Given the description of an element on the screen output the (x, y) to click on. 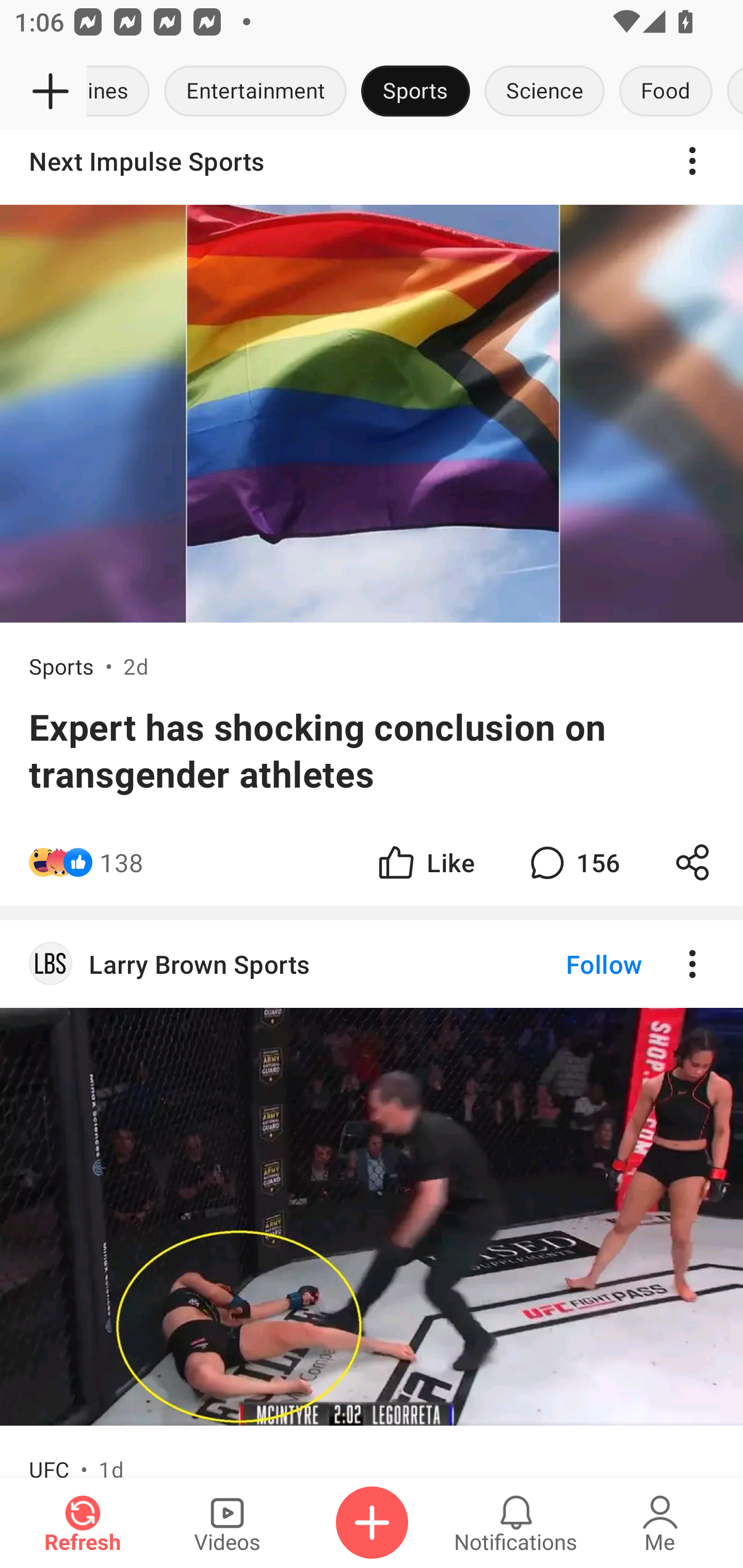
Headlines (121, 91)
Entertainment (254, 91)
Sports (415, 91)
Science (544, 91)
Food (665, 91)
Next Impulse Sports (371, 167)
138 (121, 862)
Like (425, 862)
156 (572, 862)
Larry Brown Sports Follow UFC   •  1d (371, 1198)
Larry Brown Sports Follow (371, 964)
Follow (569, 964)
Videos (227, 1522)
Notifications (516, 1522)
Me (659, 1522)
